Given the description of an element on the screen output the (x, y) to click on. 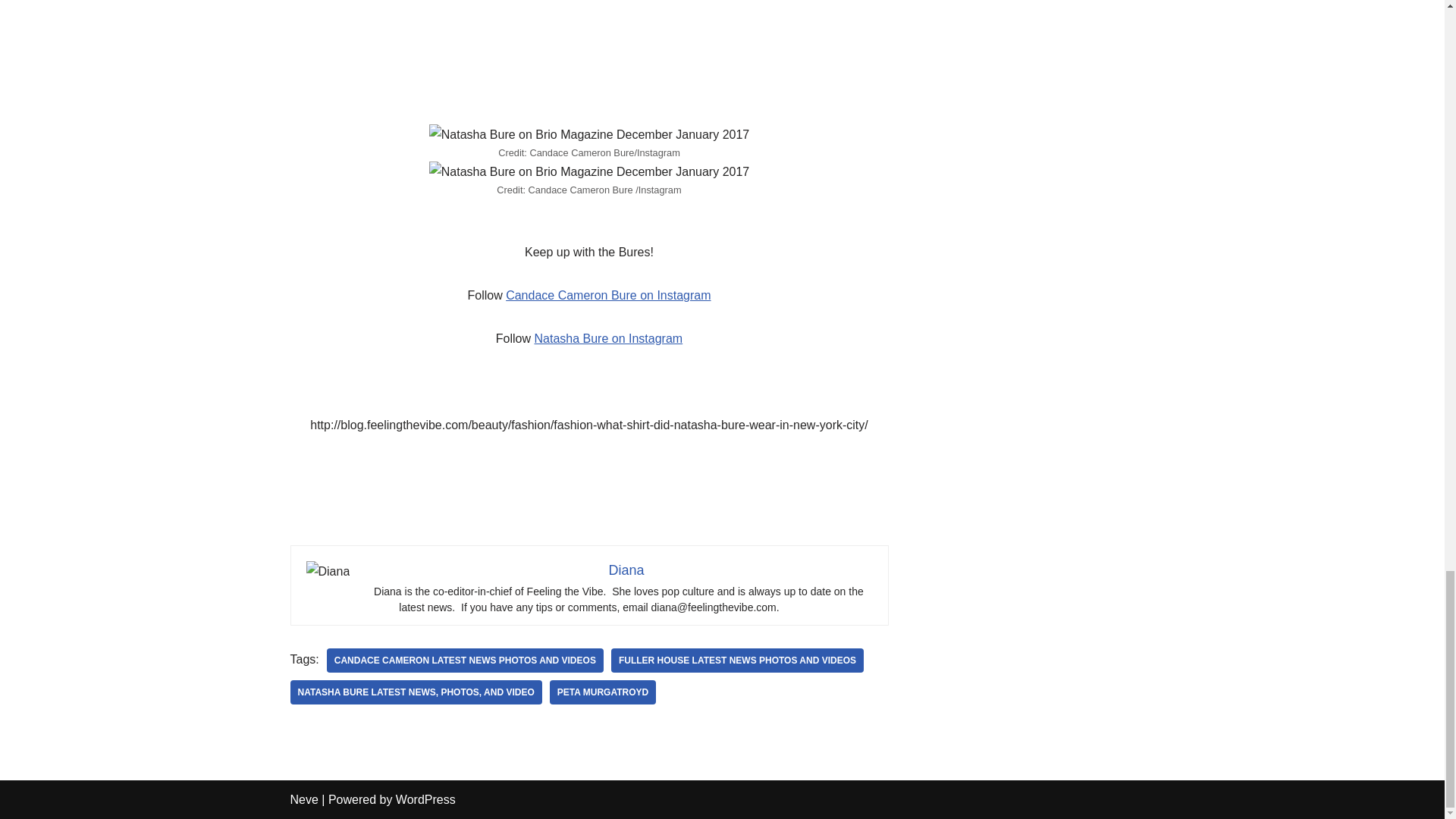
Fuller House Latest News Photos and Videos (737, 660)
CANDACE CAMERON LATEST NEWS PHOTOS AND VIDEOS (465, 660)
FULLER HOUSE LATEST NEWS PHOTOS AND VIDEOS (737, 660)
Natasha Bure on Instagram (608, 338)
Diana (625, 570)
NATASHA BURE LATEST NEWS, PHOTOS, AND VIDEO (415, 692)
PETA MURGATROYD (603, 692)
Candace Cameron Latest News Photos and Videos (465, 660)
Candace Cameron Bure on Instagram (607, 295)
